Given the description of an element on the screen output the (x, y) to click on. 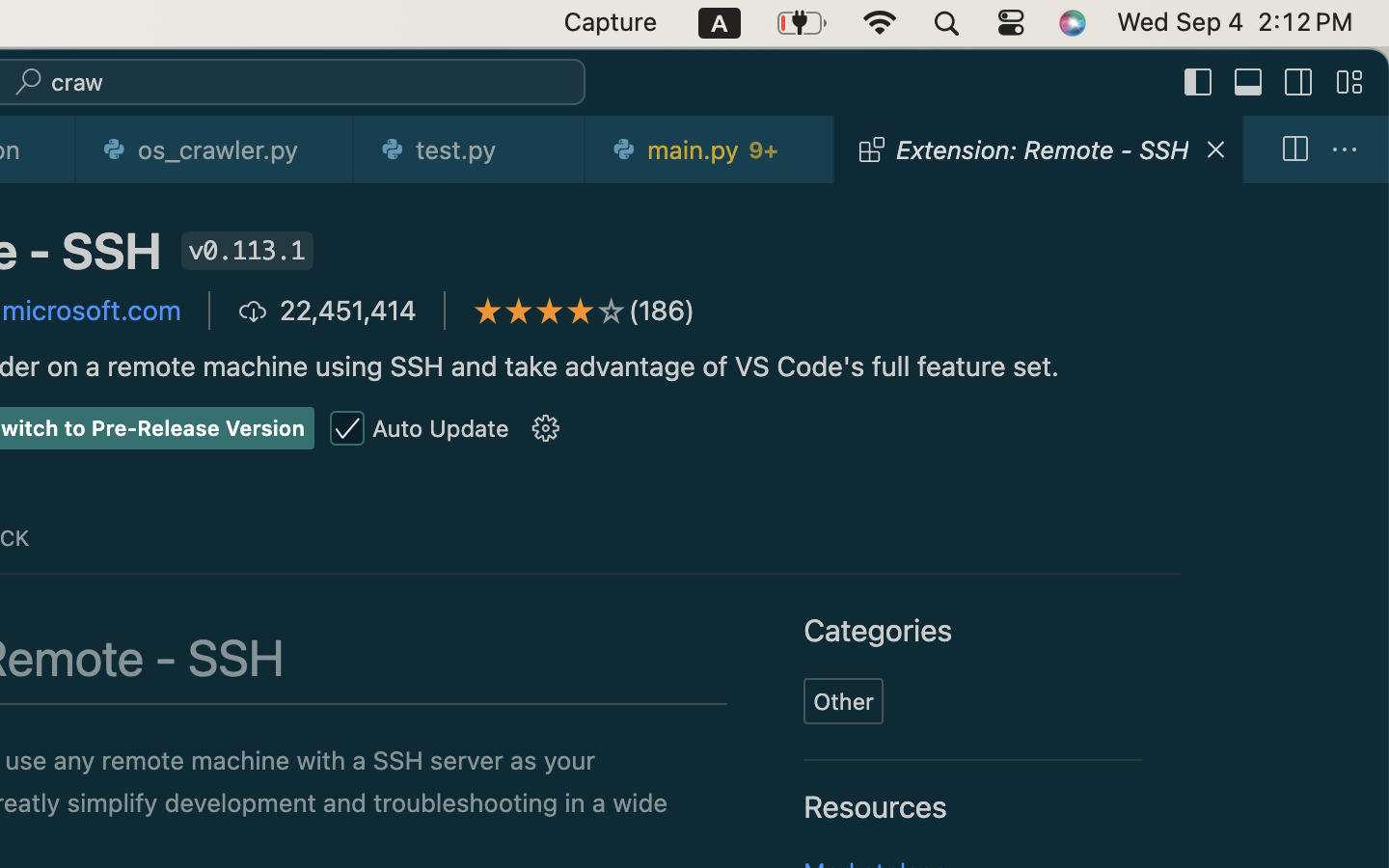
0 test.py   Element type: AXRadioButton (470, 149)
microsoft.com Element type: AXStaticText (91, 310)
 Element type: AXButton (545, 428)
